Given the description of an element on the screen output the (x, y) to click on. 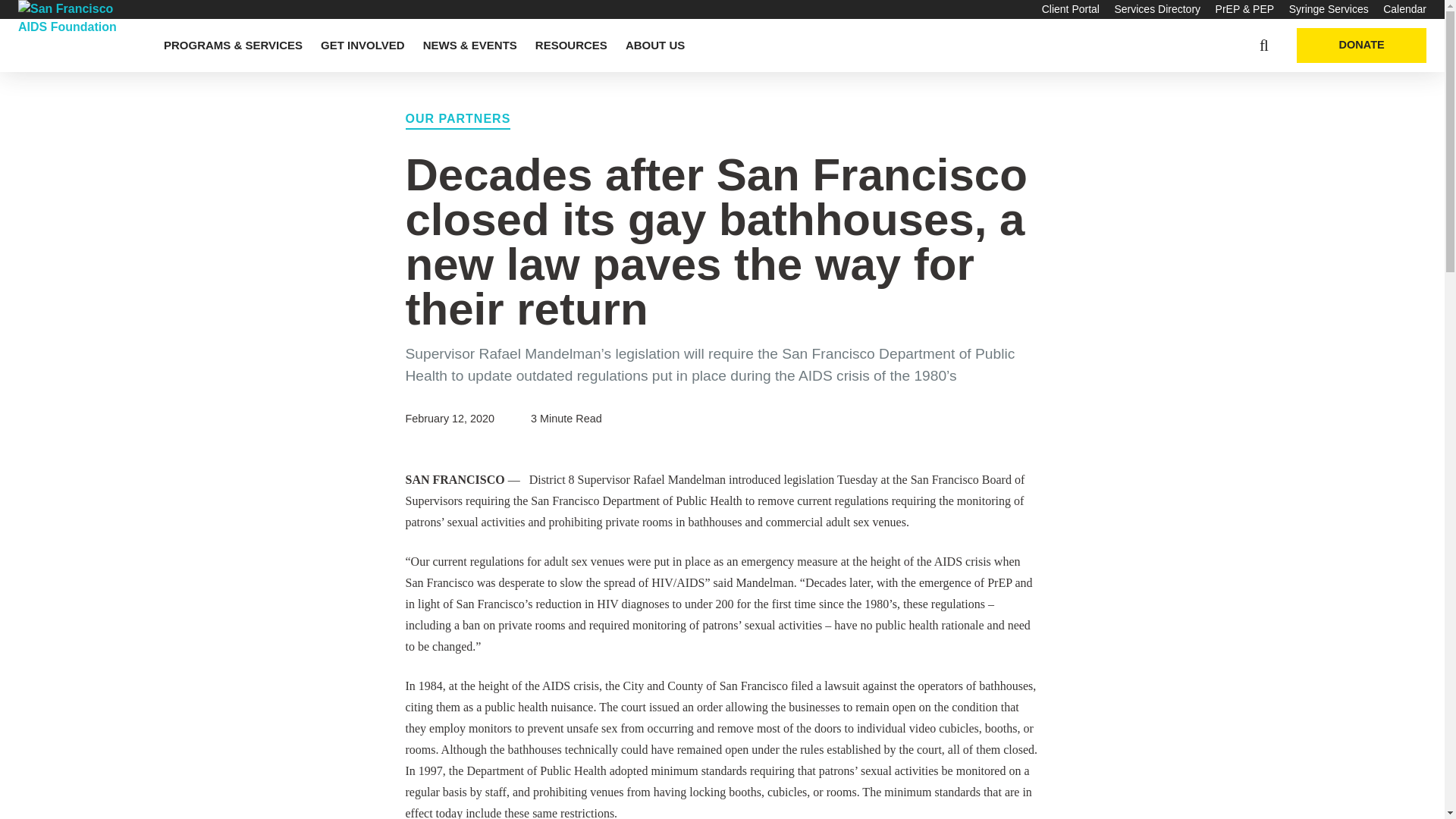
Calendar (1404, 9)
GET INVOLVED (362, 45)
DONATE (1361, 45)
Services Directory (1156, 9)
RESOURCES (571, 45)
Client Portal (1070, 9)
Syringe Services (1328, 9)
ABOUT US (655, 45)
